Given the description of an element on the screen output the (x, y) to click on. 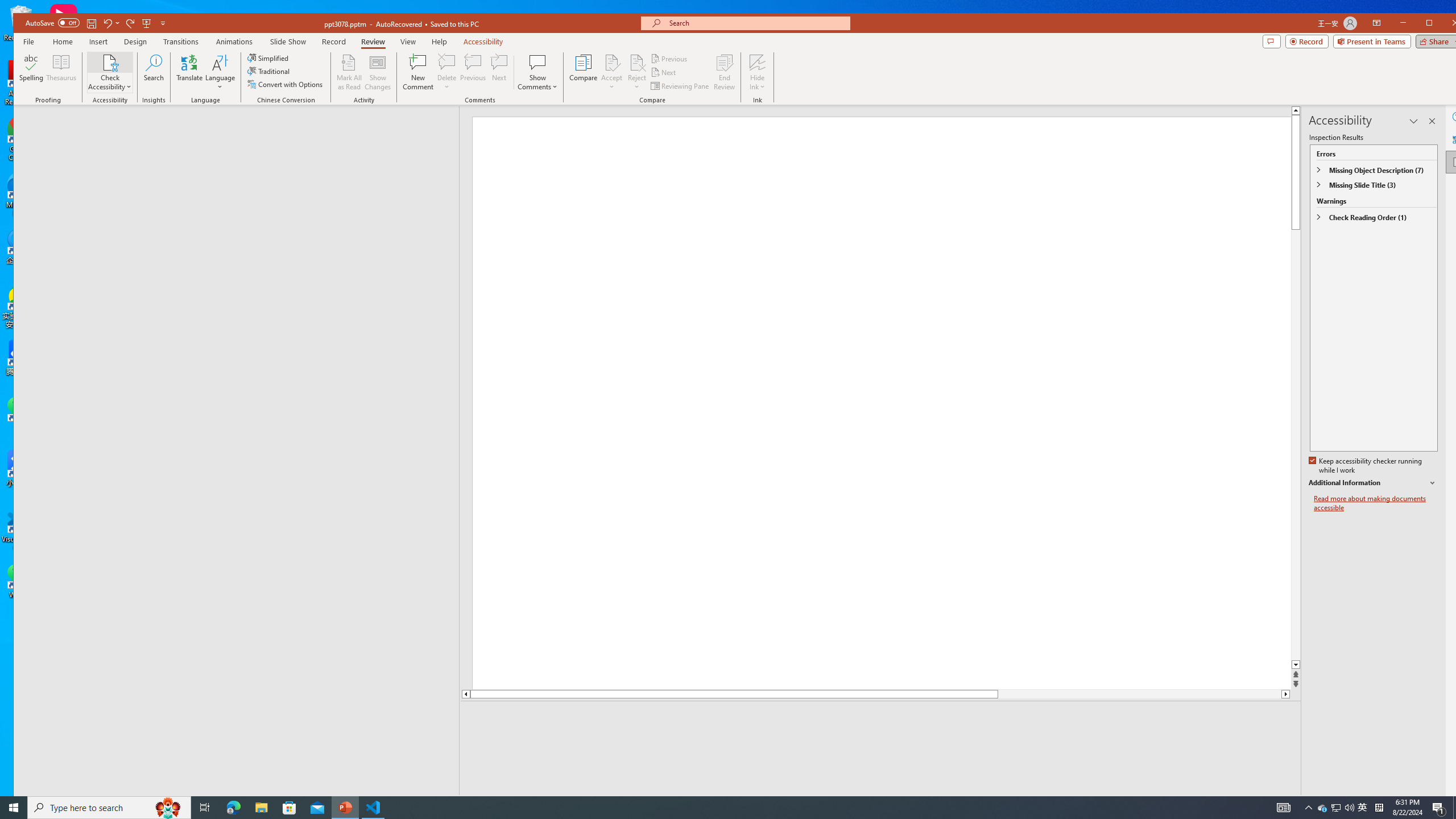
Language (219, 72)
Previous (670, 58)
Thesaurus... (61, 72)
